Given the description of an element on the screen output the (x, y) to click on. 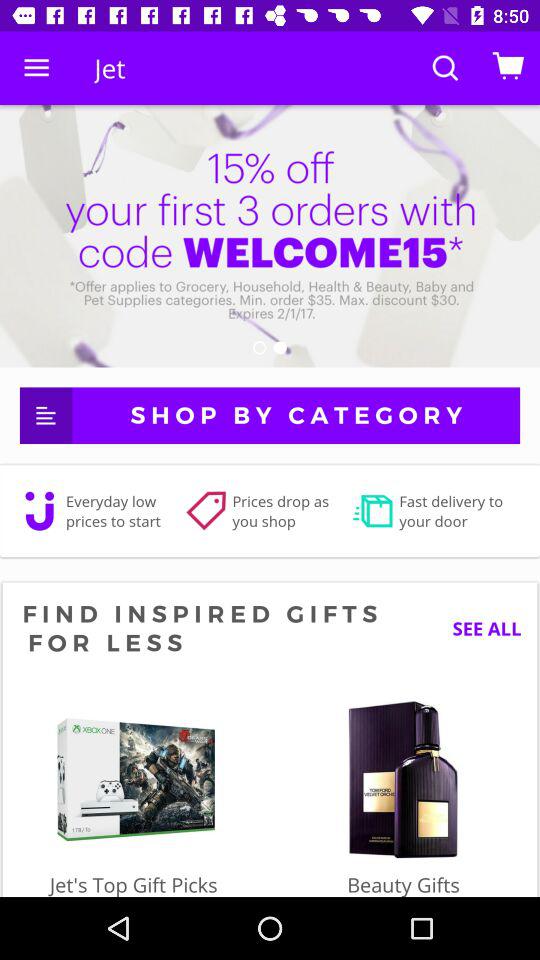
swipe to the see all icon (479, 628)
